Given the description of an element on the screen output the (x, y) to click on. 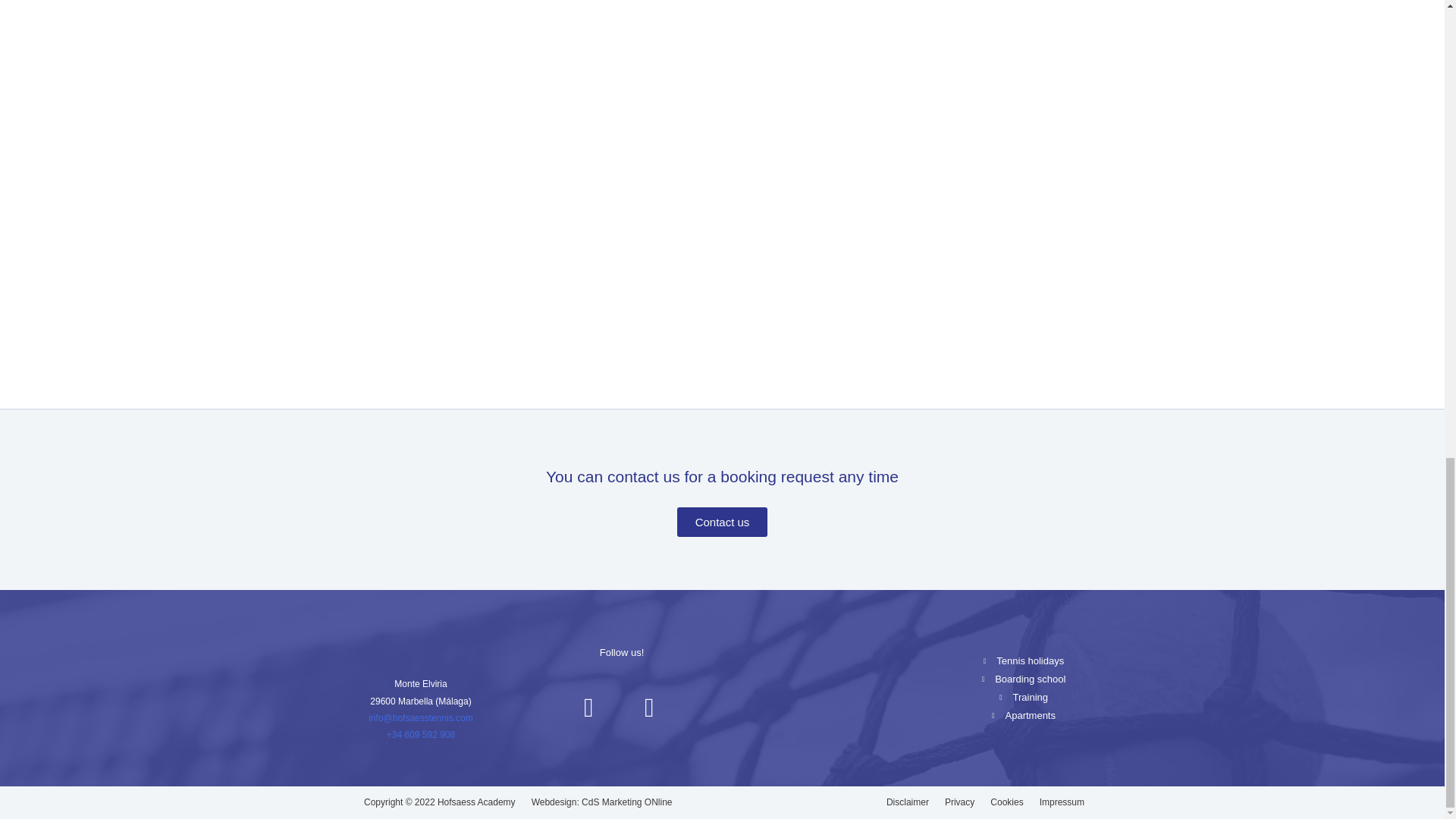
Tennis training 10 (822, 687)
Contact us (722, 521)
Tennis training 9 (420, 646)
Tennis holidays (1023, 660)
